Given the description of an element on the screen output the (x, y) to click on. 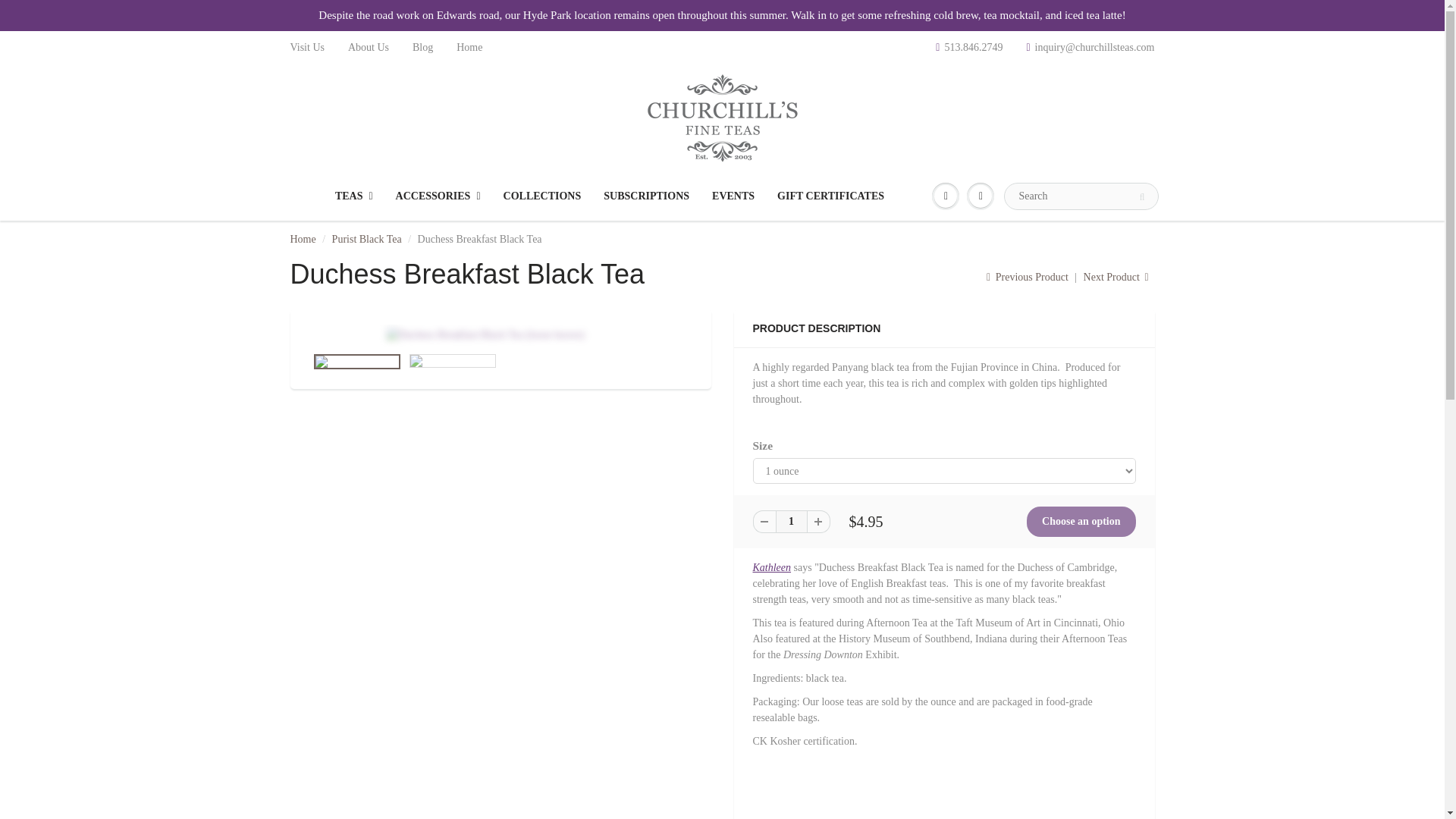
Blog (422, 47)
COLLECTIONS (542, 196)
1 (790, 521)
ACCESSORIES (438, 196)
Home (302, 238)
Visit Us (306, 47)
Home (469, 47)
TEAS (353, 196)
About Us (367, 47)
513.846.2749 (969, 47)
